Given the description of an element on the screen output the (x, y) to click on. 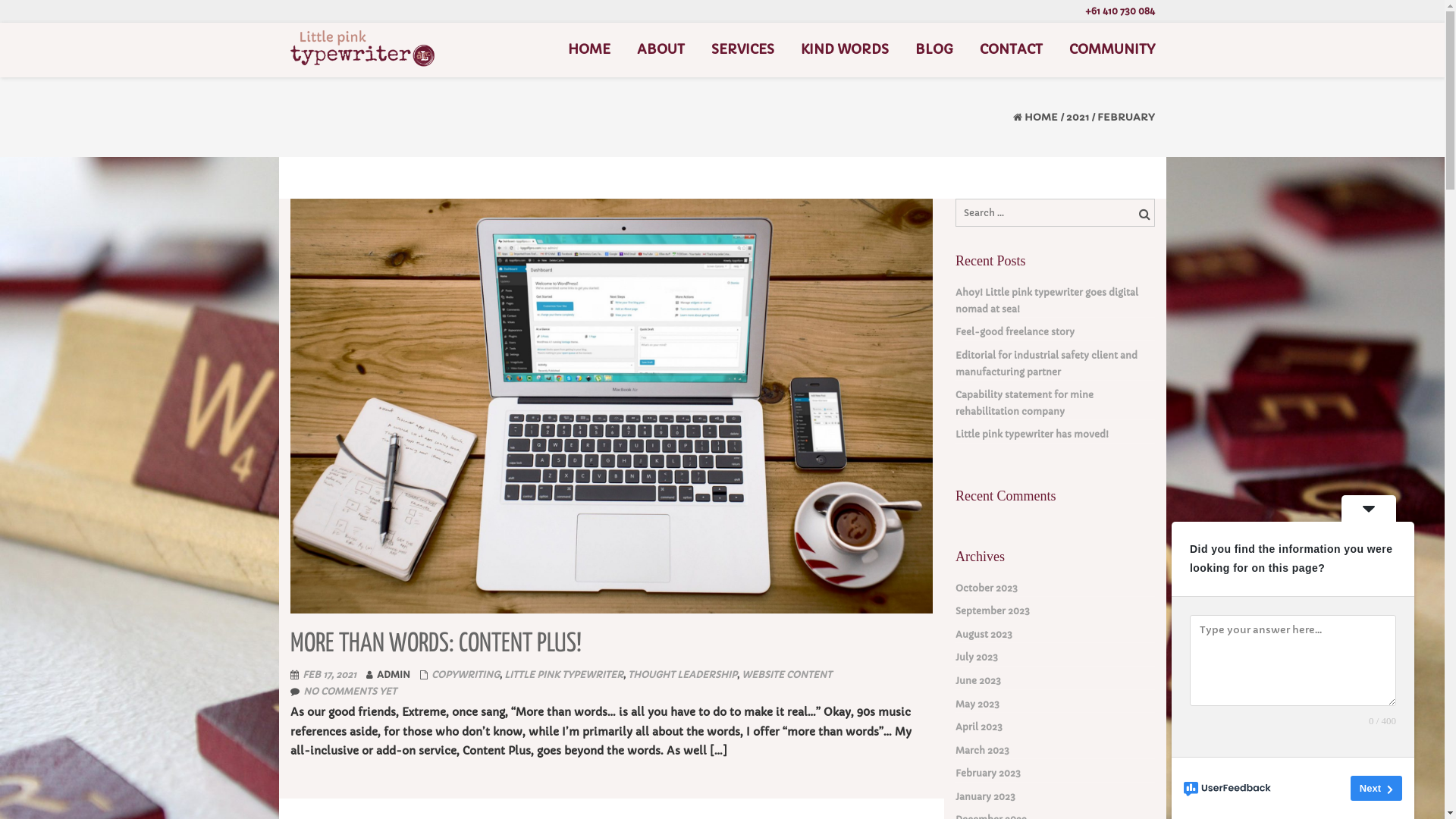
KIND WORDS Element type: text (844, 49)
Capability statement for mine rehabilitation company Element type: text (1054, 402)
COPYWRITING Element type: text (464, 674)
Next Element type: text (1376, 787)
2021 Element type: text (1077, 116)
MORE THAN WORDS: CONTENT PLUS! Element type: text (434, 643)
CONTACT Element type: text (1010, 49)
FEB 17, 2021 Element type: text (328, 674)
HOME Element type: text (1040, 116)
February 2023 Element type: text (987, 773)
May 2023 Element type: text (977, 704)
BLOG Element type: text (933, 49)
October 2023 Element type: text (986, 588)
Little pink typewriter has moved! Element type: text (1031, 434)
August 2023 Element type: text (983, 634)
July 2023 Element type: text (976, 657)
COMMUNITY Element type: text (1111, 49)
June 2023 Element type: text (978, 680)
Ahoy! Little pink typewriter goes digital nomad at sea! Element type: text (1054, 300)
January 2023 Element type: text (985, 796)
SERVICES Element type: text (742, 49)
Feel-good freelance story Element type: text (1014, 331)
Search Element type: text (1142, 213)
HOME Element type: text (588, 49)
September 2023 Element type: text (992, 610)
WEBSITE CONTENT Element type: text (786, 674)
NO COMMENTS YET Element type: text (349, 690)
THOUGHT LEADERSHIP Element type: text (682, 674)
ABOUT Element type: text (660, 49)
March 2023 Element type: text (982, 750)
LITTLE PINK TYPEWRITER Element type: text (562, 674)
April 2023 Element type: text (978, 726)
